Given the description of an element on the screen output the (x, y) to click on. 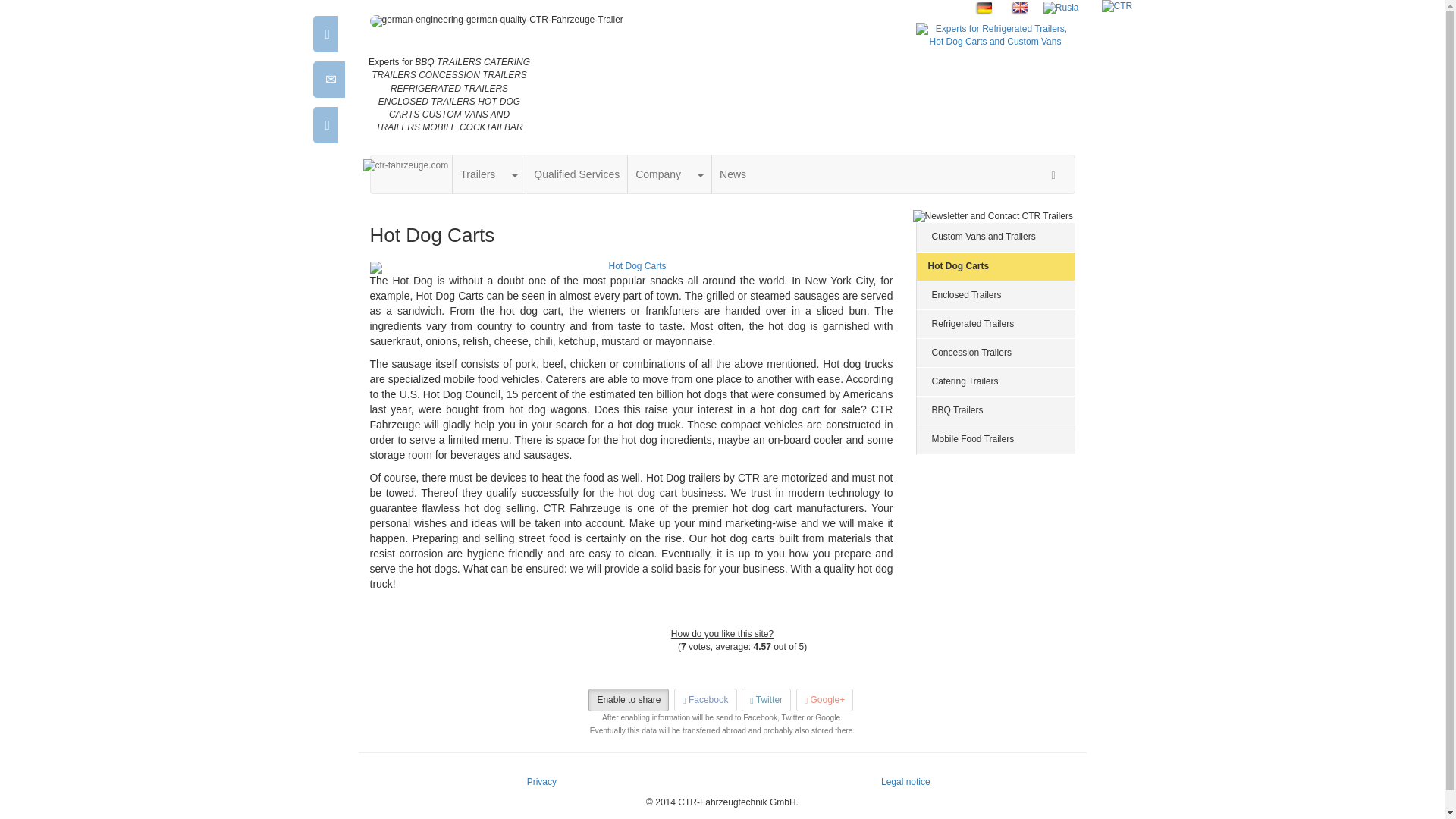
News (732, 174)
ctr-fahrzeuge.com (405, 164)
CTR Trailer on Google (601, 124)
CTR on Facebook (535, 125)
Qualified Services (576, 174)
Contact (553, 79)
german-engineering-german-quality-CTR-Fahrzeuge-Trailer (631, 21)
Custom Vans and Trailers (995, 236)
Enclosed Trailers (995, 295)
Company (657, 174)
DE (983, 8)
CTR Trailer on Twitter (568, 125)
CTR on Google (601, 125)
EN (1018, 8)
